Given the description of an element on the screen output the (x, y) to click on. 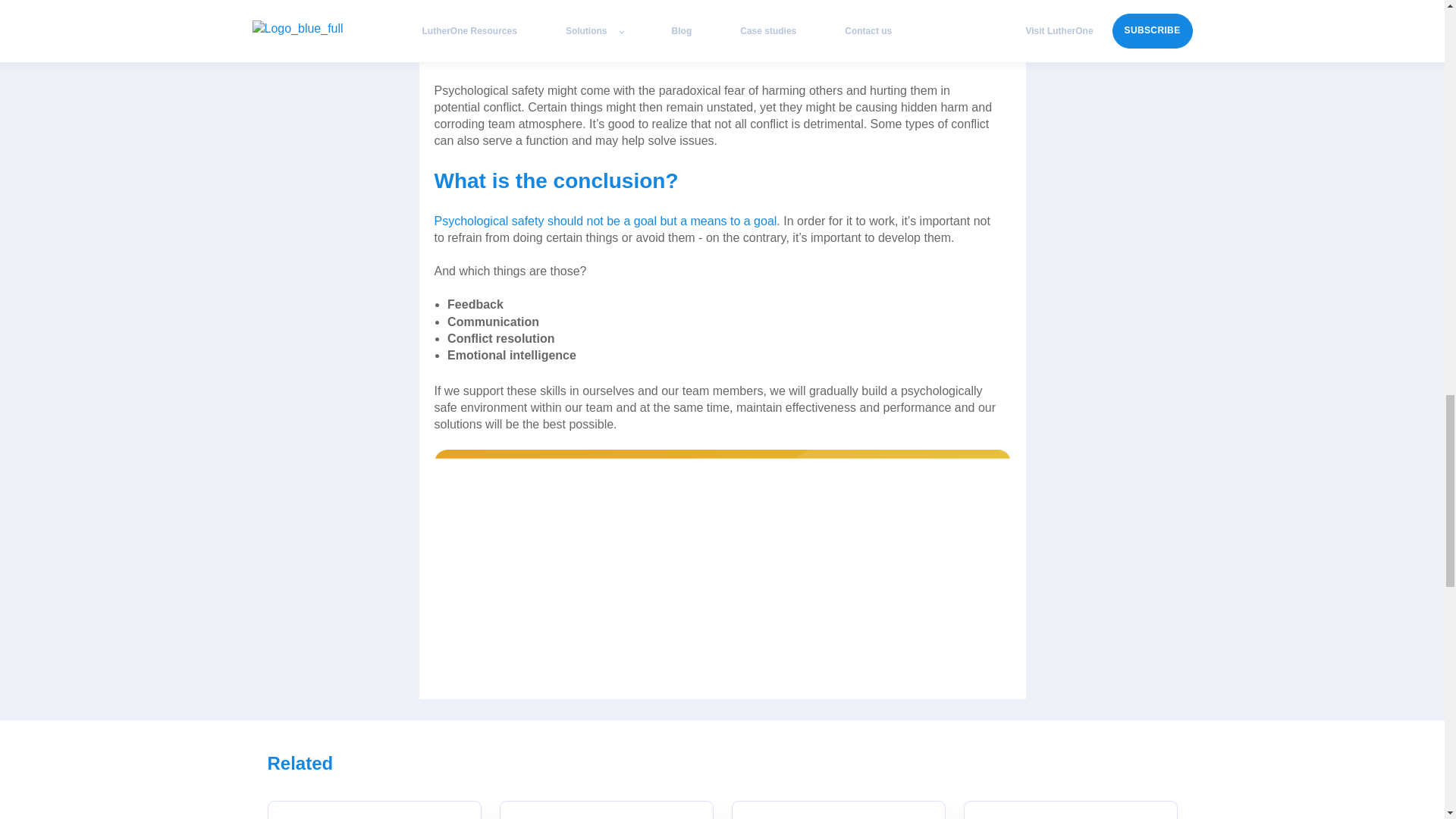
Free Demo (721, 564)
